Given the description of an element on the screen output the (x, y) to click on. 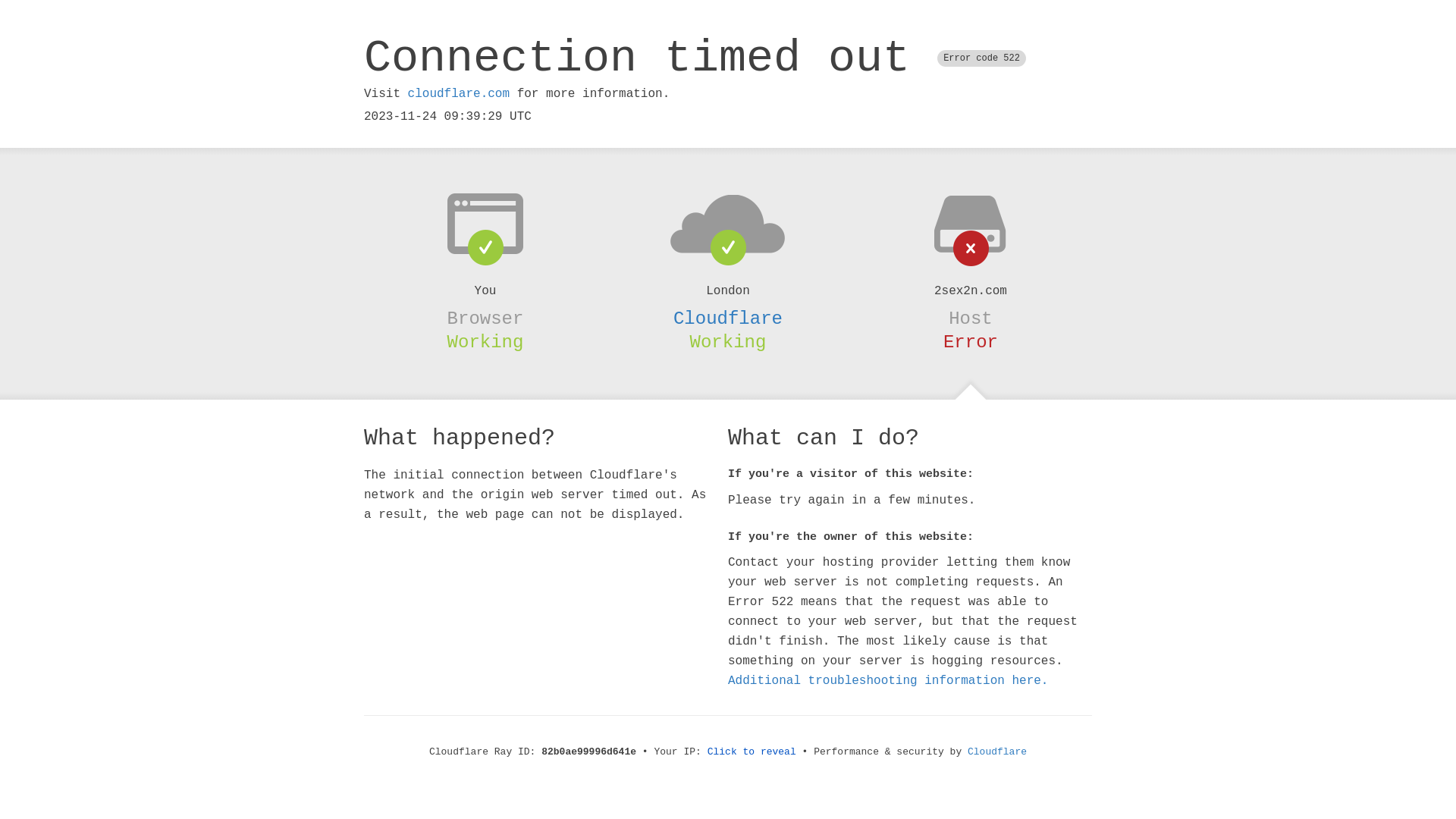
Cloudflare Element type: text (727, 318)
Additional troubleshooting information here. Element type: text (888, 680)
Cloudflare Element type: text (996, 751)
Click to reveal Element type: text (751, 751)
cloudflare.com Element type: text (458, 93)
